Given the description of an element on the screen output the (x, y) to click on. 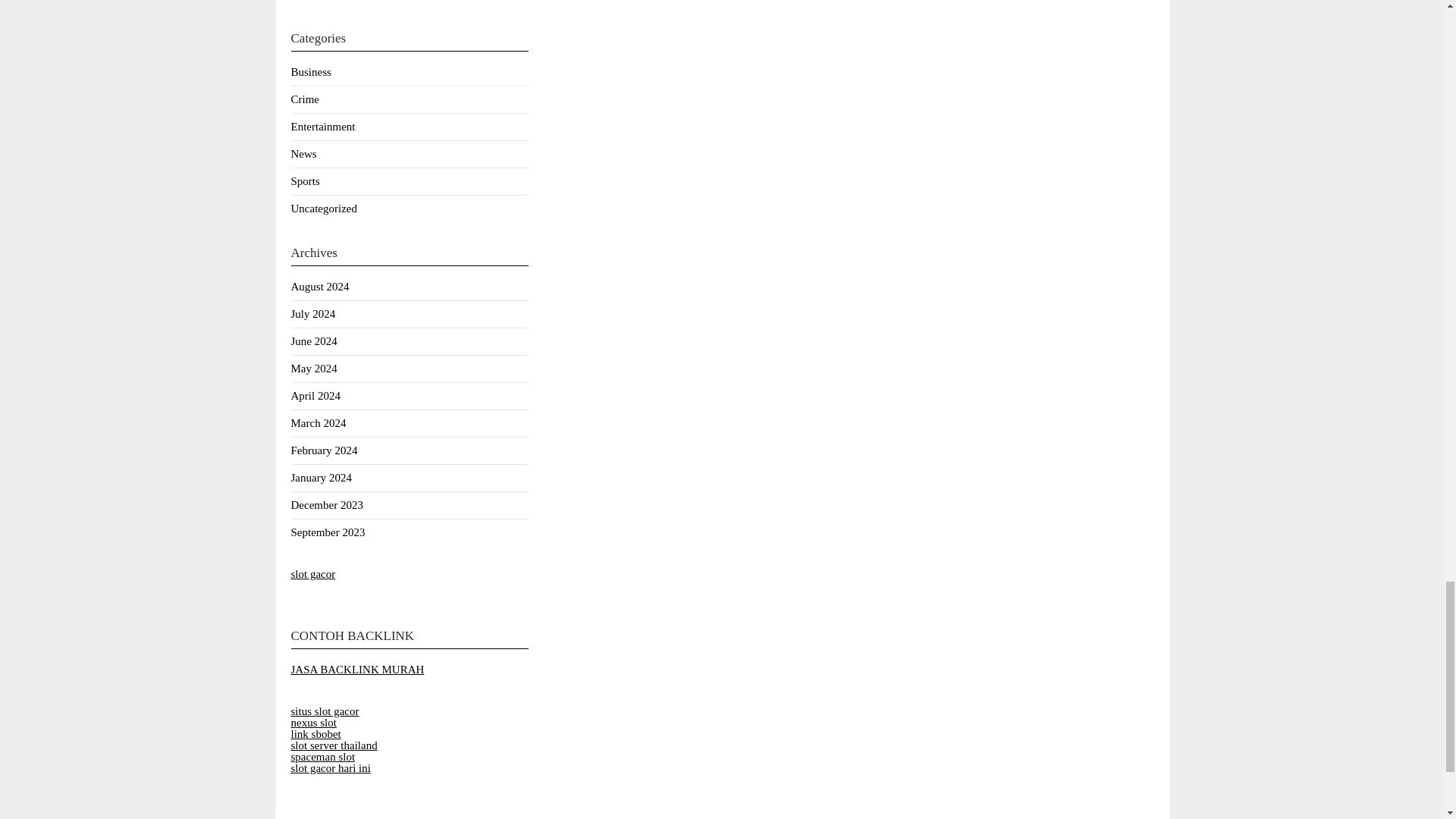
Crime (305, 99)
May 2024 (314, 368)
July 2024 (313, 313)
Sports (305, 181)
Uncategorized (323, 208)
June 2024 (314, 340)
April 2024 (315, 395)
Entertainment (323, 126)
March 2024 (318, 422)
Business (311, 71)
